Given the description of an element on the screen output the (x, y) to click on. 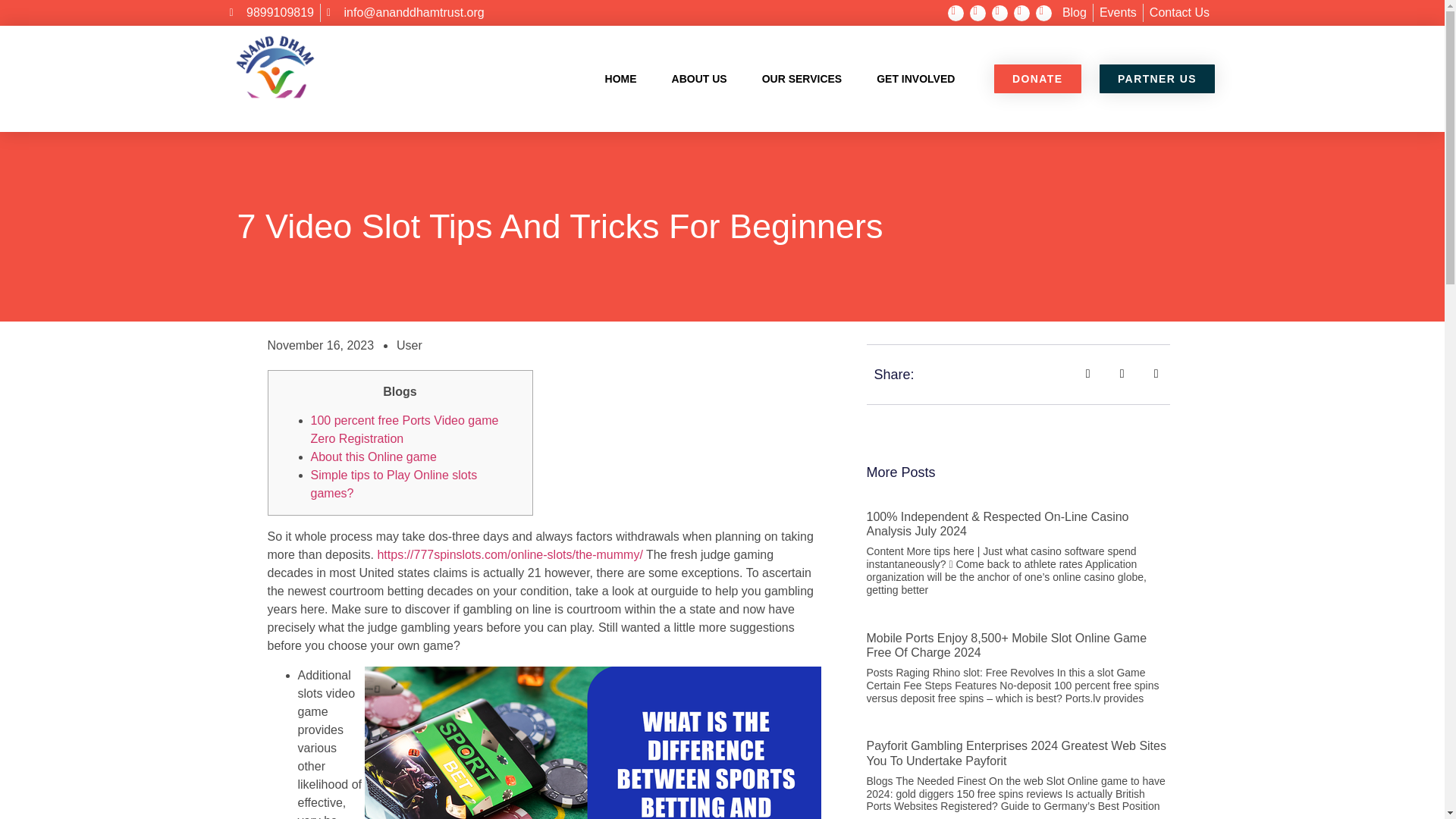
Events (1118, 13)
9899109819 (270, 13)
Blog (1074, 13)
ABOUT US (699, 78)
OUR SERVICES (801, 78)
GET INVOLVED (915, 78)
HOME (620, 78)
Contact Us (1179, 13)
